Given the description of an element on the screen output the (x, y) to click on. 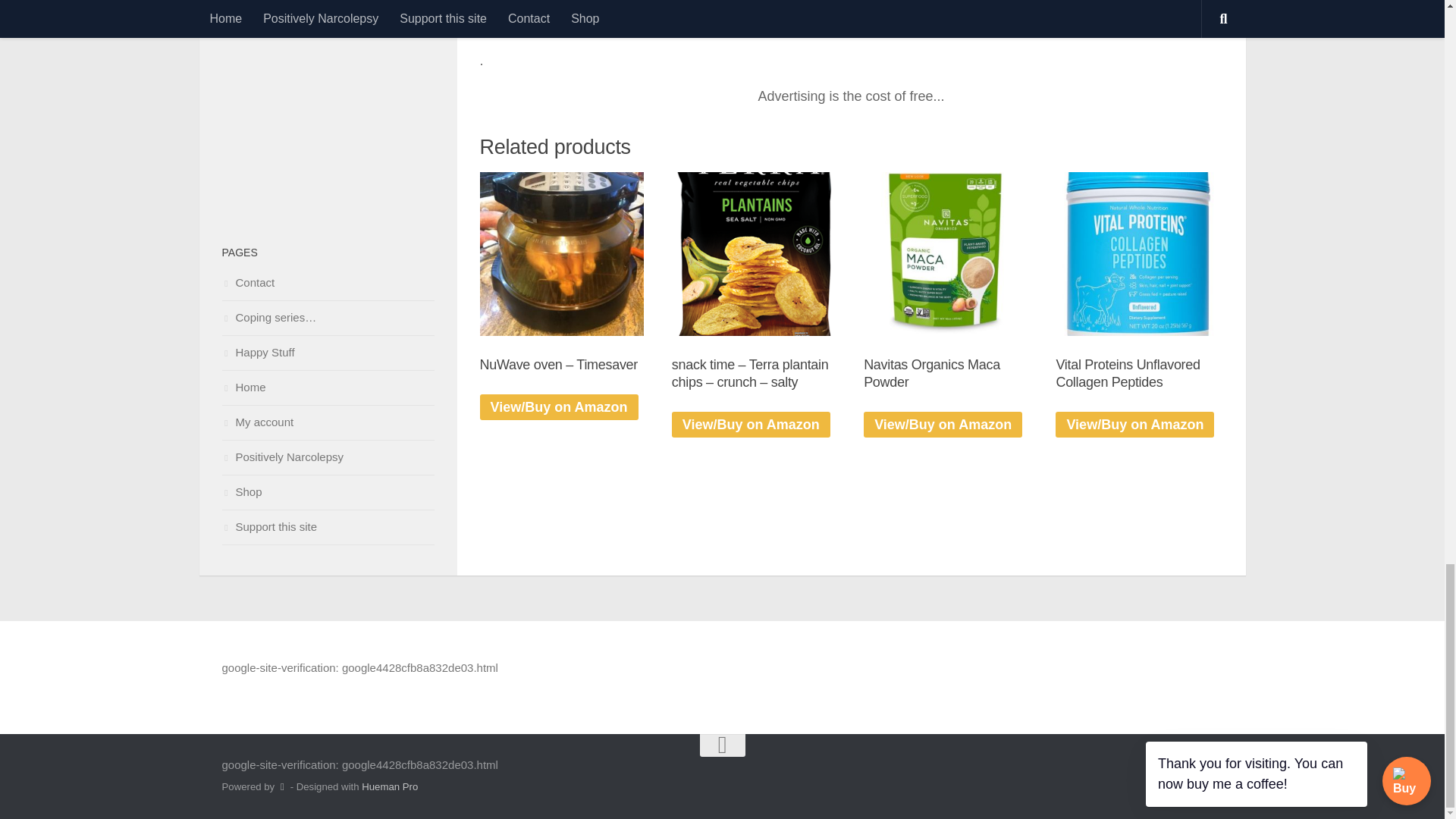
Powered by WordPress (282, 786)
